Given the description of an element on the screen output the (x, y) to click on. 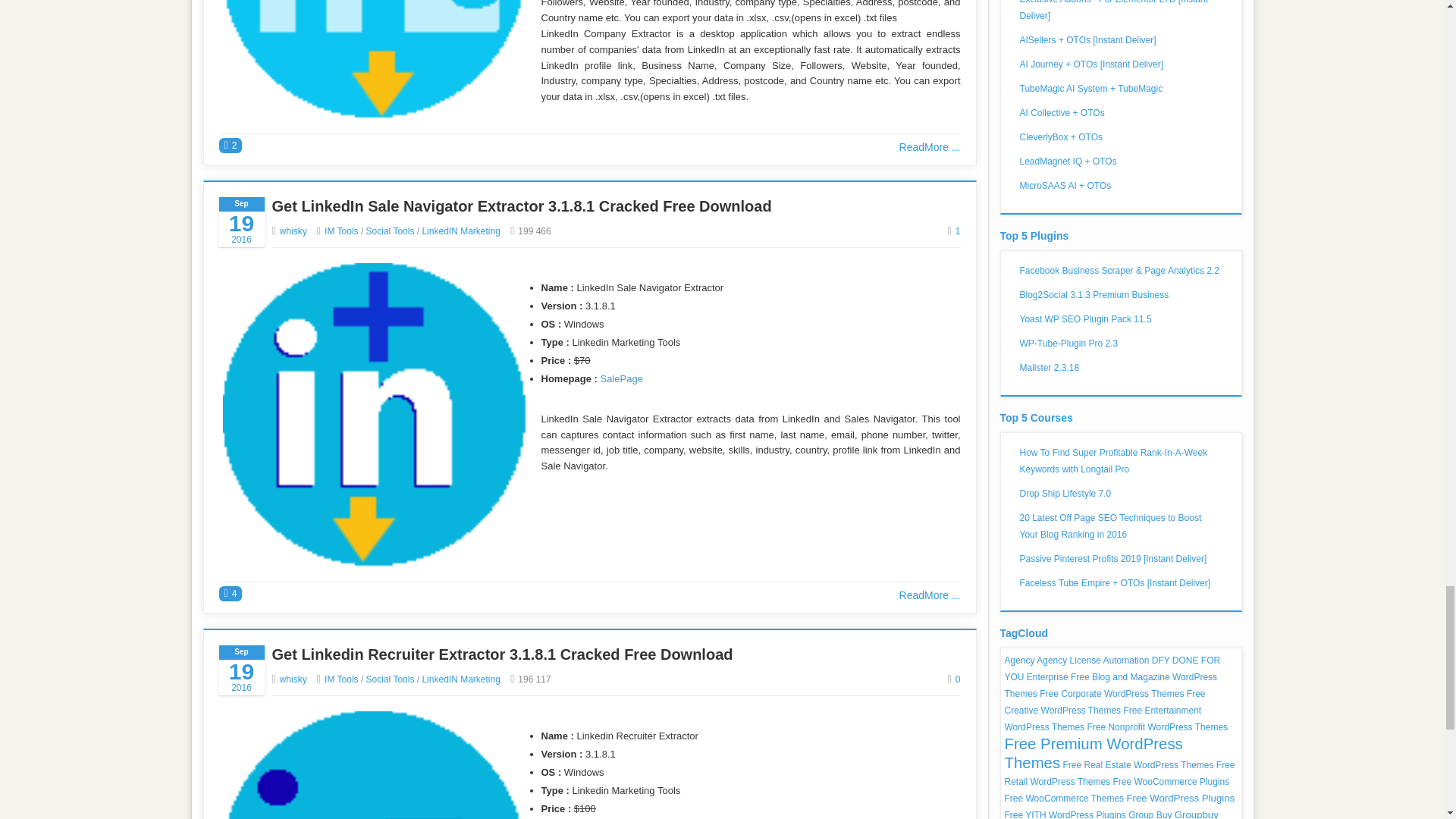
Linkedin Recruiter Extractor 3.1.8.1 (373, 765)
LinkedIn Company Extractor 3.0.6.1 (373, 58)
LinkedIn Sale Navigator Extractor 3.1.8.1 (373, 414)
